Given the description of an element on the screen output the (x, y) to click on. 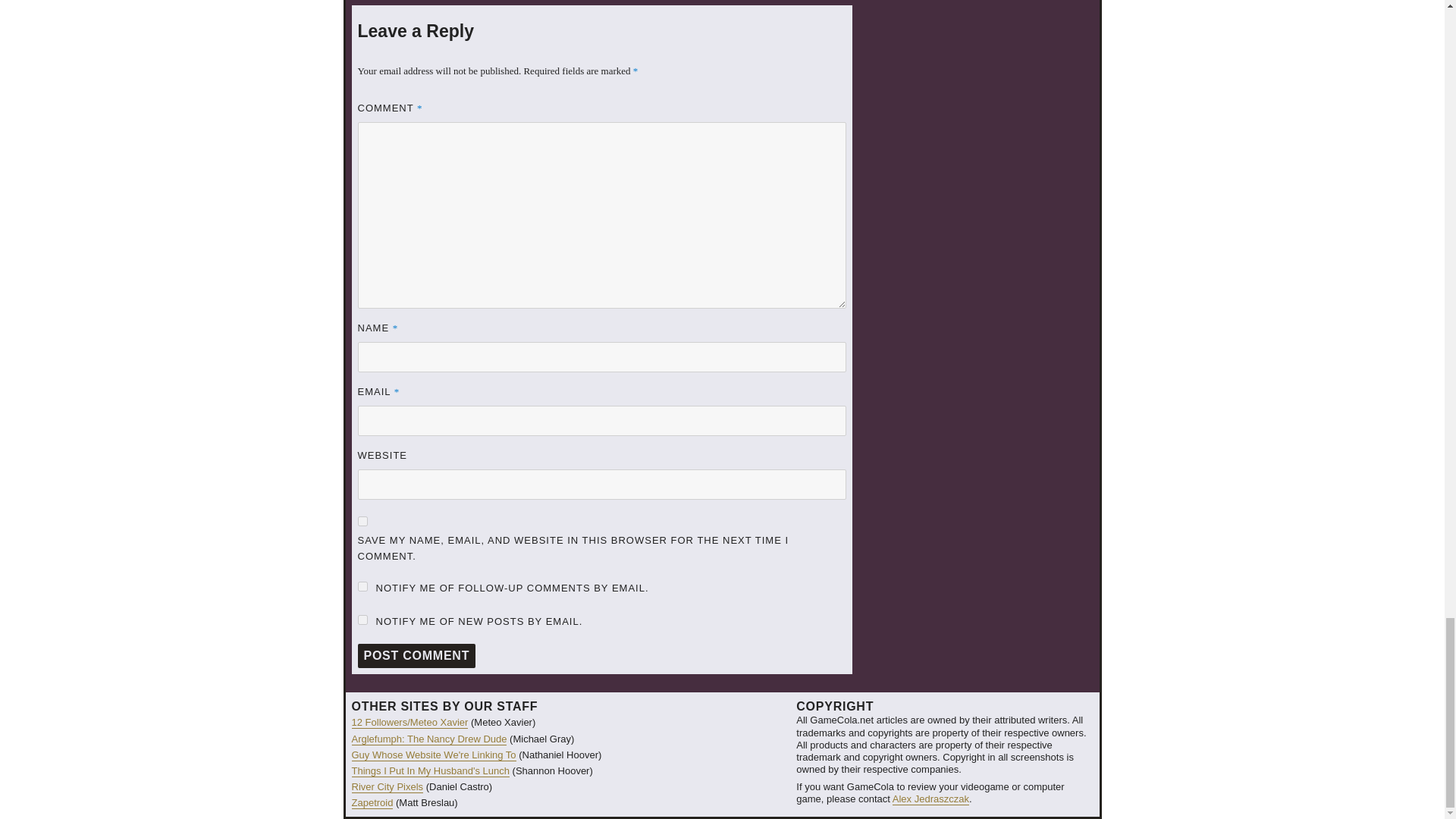
yes (363, 521)
subscribe (363, 586)
subscribe (363, 619)
Post Comment (417, 655)
Post Comment (417, 655)
